Given the description of an element on the screen output the (x, y) to click on. 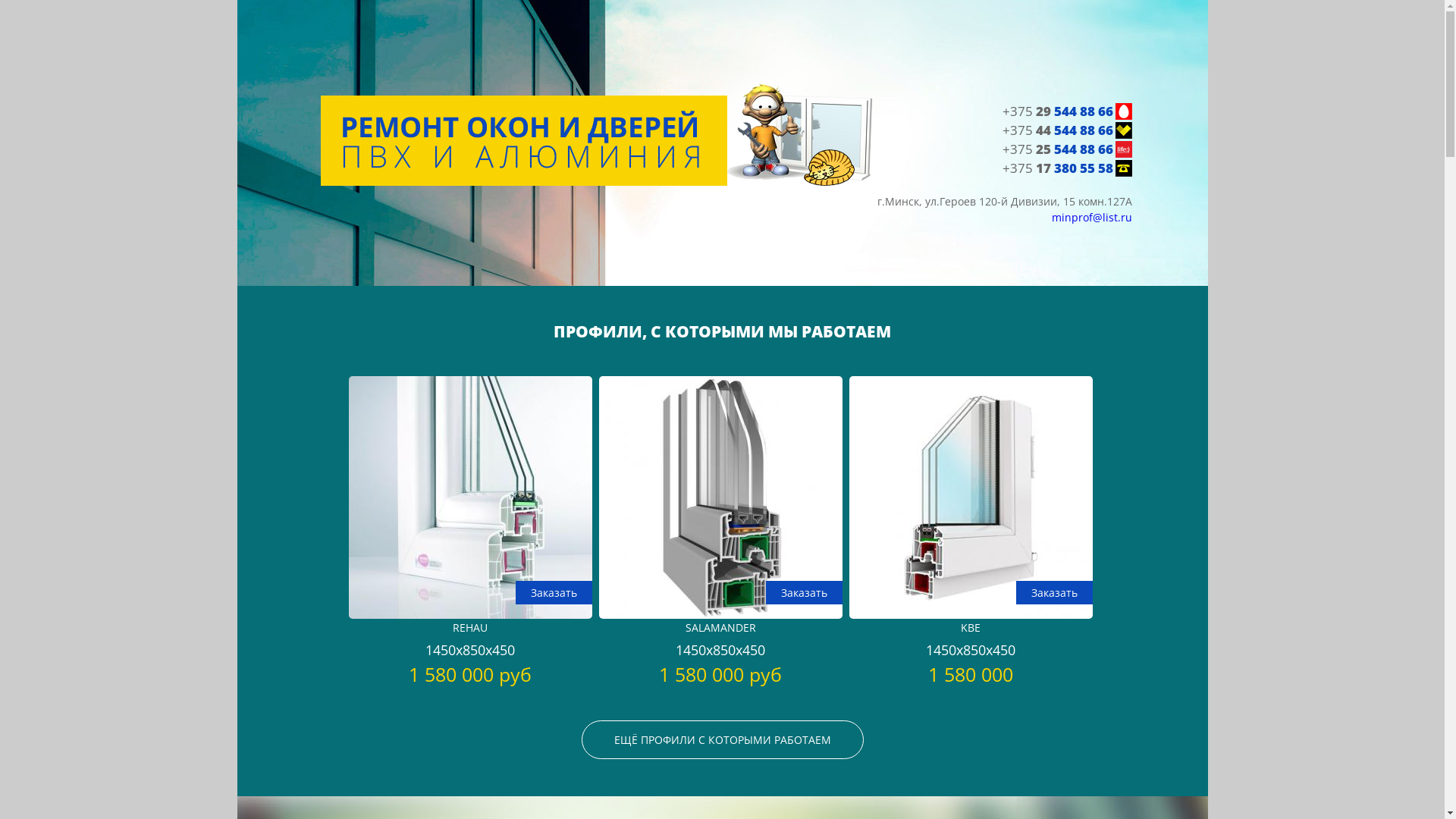
Rehau Element type: hover (470, 614)
KBE Element type: hover (970, 614)
Salamander Element type: hover (720, 614)
minprof@list.ru Element type: text (1091, 217)
